Given the description of an element on the screen output the (x, y) to click on. 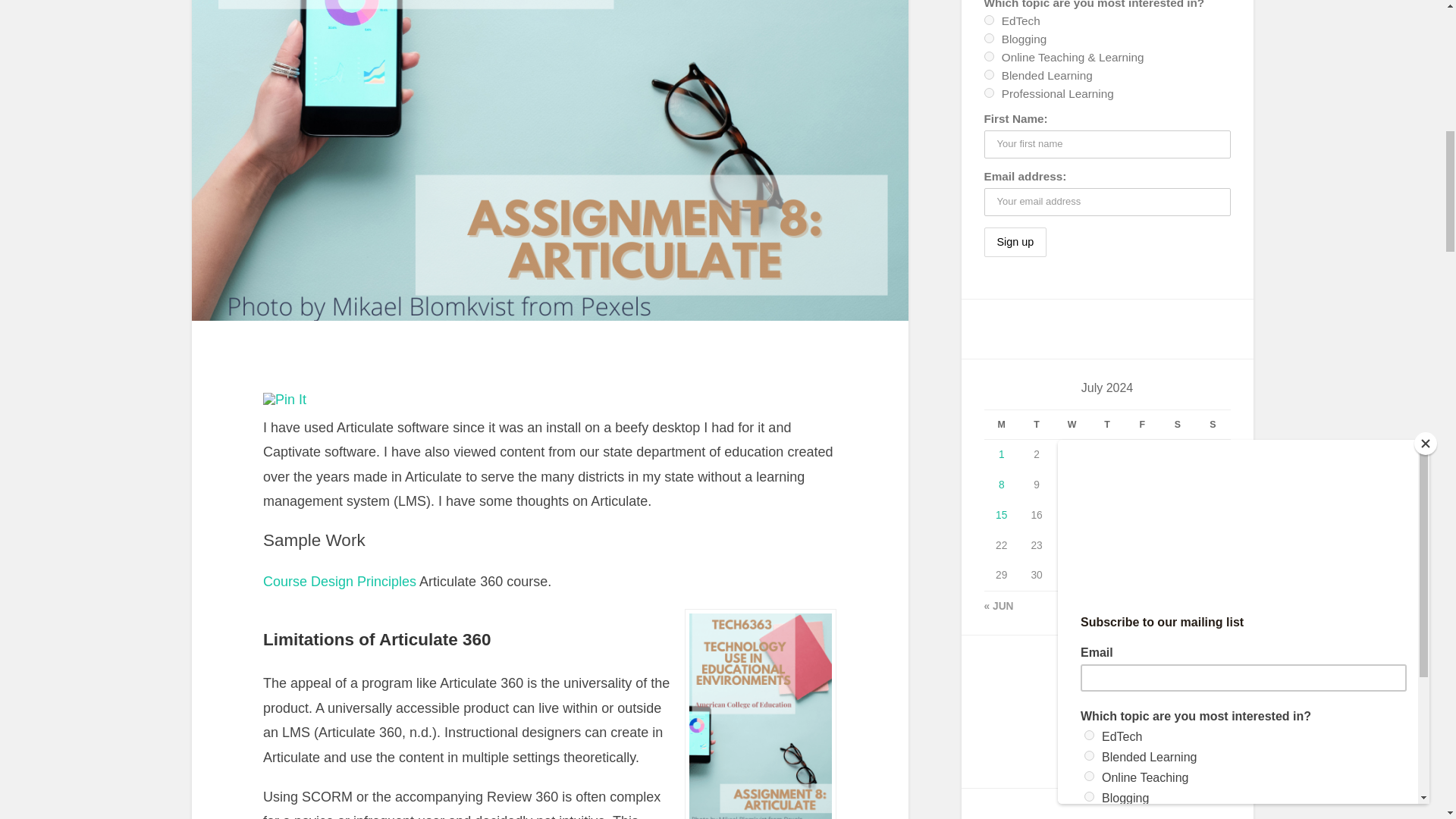
Sign up (1015, 242)
Professional Learning (989, 92)
Course Design Principles (339, 581)
Online Teaching and Learning (989, 56)
EdTech (989, 20)
Pin It (284, 399)
Blended Learning (989, 74)
Blogging (989, 38)
